Given the description of an element on the screen output the (x, y) to click on. 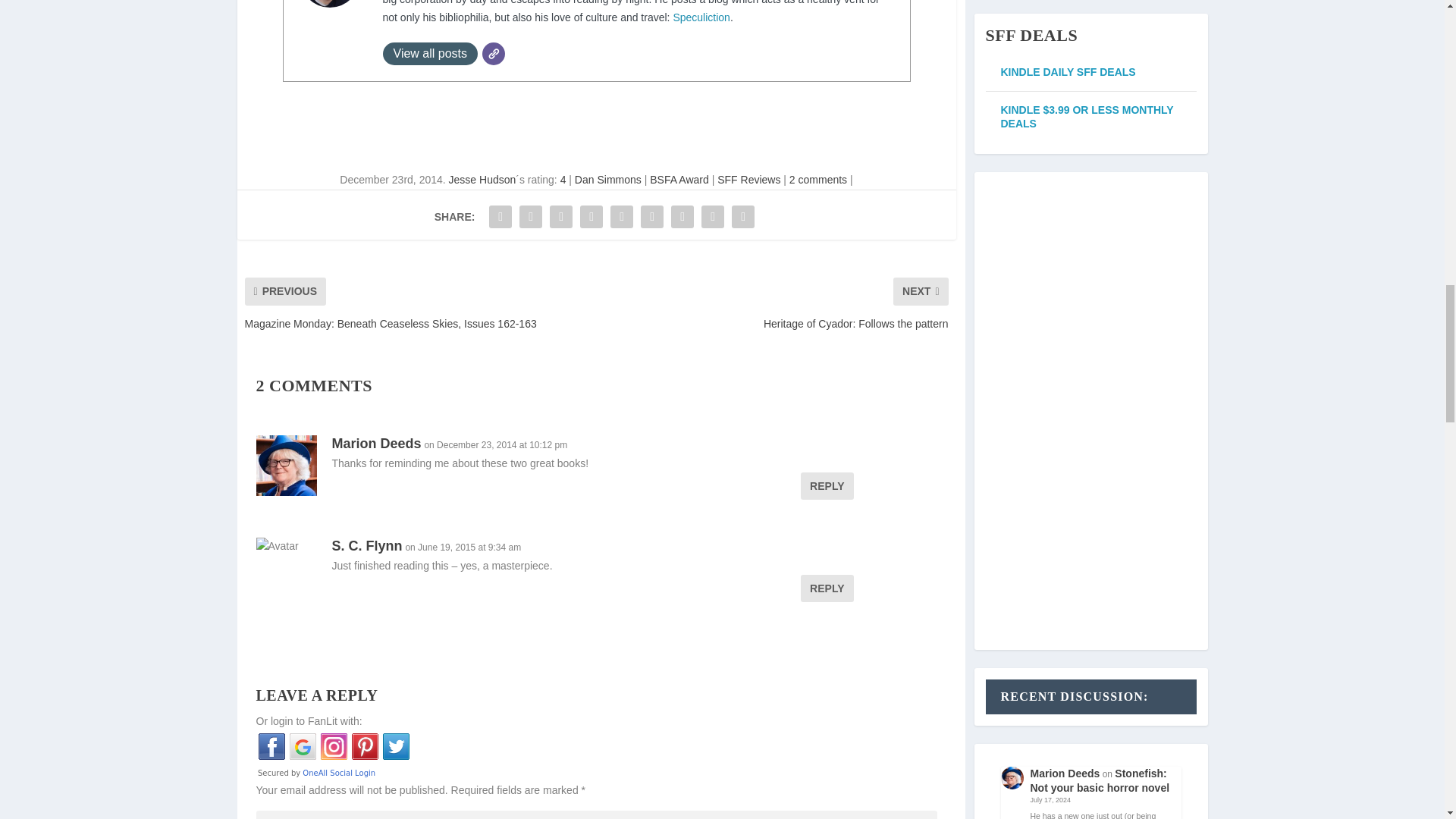
Share "The Fall of Hyperion: A grand finale" via Buffer (651, 216)
Share "The Fall of Hyperion: A grand finale" via Pinterest (591, 216)
Share "The Fall of Hyperion: A grand finale" via Email (712, 216)
Share "The Fall of Hyperion: A grand finale" via Tumblr (561, 216)
Share "The Fall of Hyperion: A grand finale" via Twitter (530, 216)
Share "The Fall of Hyperion: A grand finale" via LinkedIn (622, 216)
Posts by Jesse Hudson (482, 179)
Share "The Fall of Hyperion: A grand finale" via Facebook (499, 216)
View all posts (429, 53)
Share "The Fall of Hyperion: A grand finale" via Stumbleupon (681, 216)
